Given the description of an element on the screen output the (x, y) to click on. 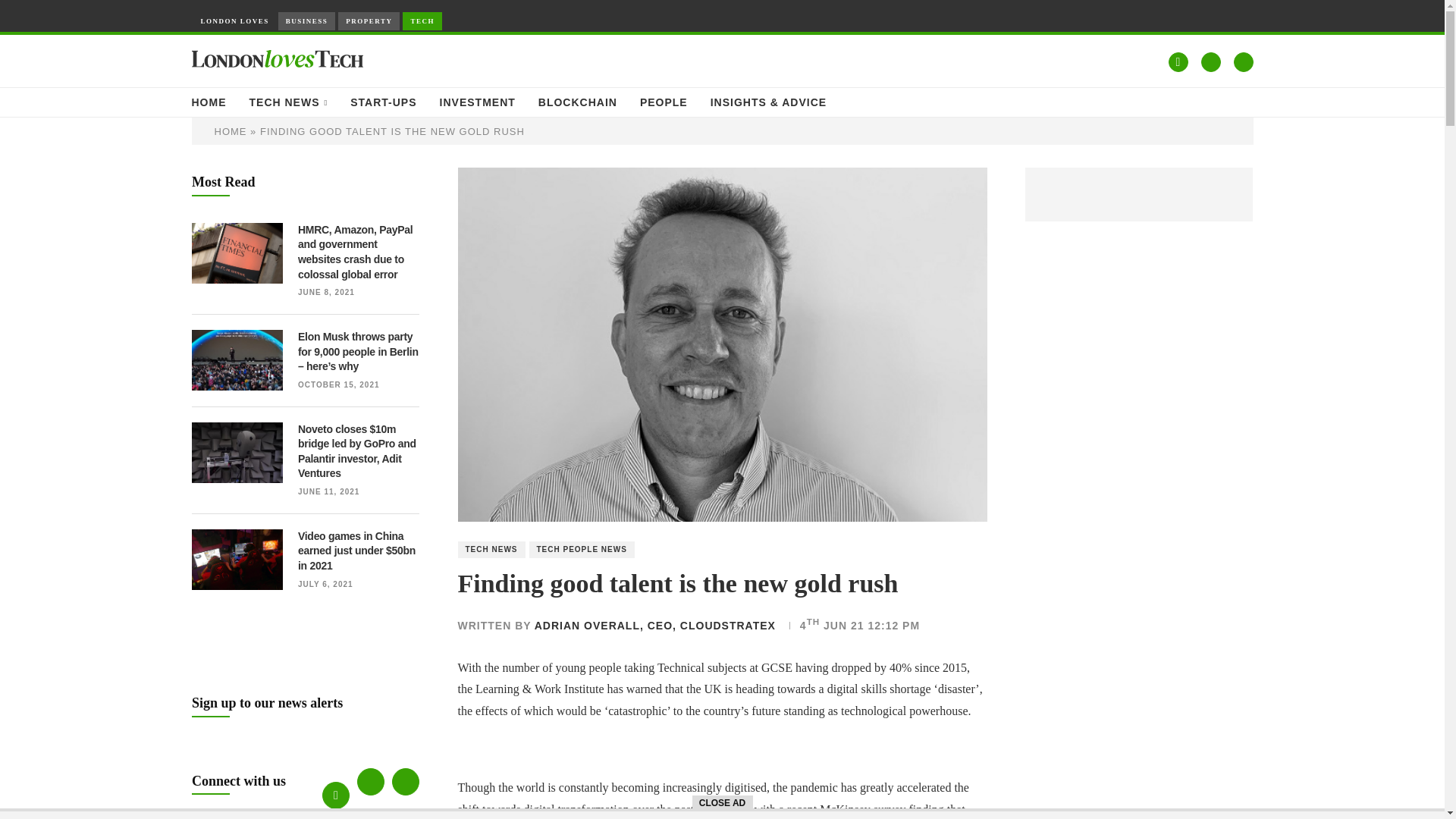
PROPERTY (367, 21)
BLOCKCHAIN (577, 102)
HOME (207, 102)
BUSINESS (307, 21)
TECH (422, 21)
START-UPS (383, 102)
LONDON LOVES (234, 21)
TECH NEWS (287, 102)
PEOPLE (663, 102)
INVESTMENT (477, 102)
